Given the description of an element on the screen output the (x, y) to click on. 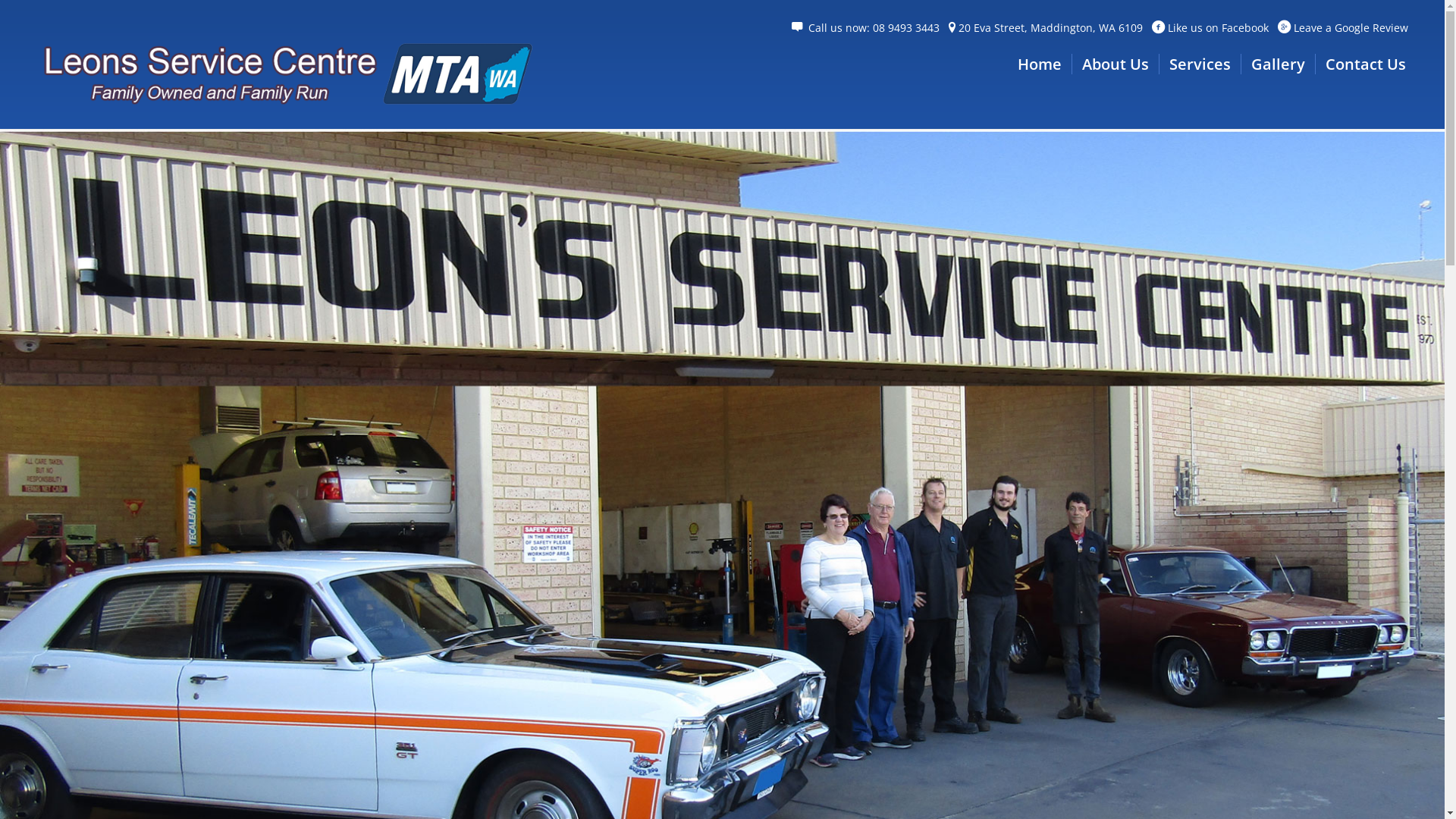
Services Element type: text (1199, 64)
walogo Element type: hover (285, 71)
Gallery Element type: text (1277, 64)
About Us Element type: text (1114, 64)
20 Eva Street, Maddington, WA 6109 Element type: text (1050, 27)
Leave a Google Review Element type: text (1350, 27)
Like us on Facebook Element type: text (1217, 27)
08 9493 3443 Element type: text (905, 27)
Home Element type: text (1039, 64)
Contact Us Element type: text (1364, 64)
